Given the description of an element on the screen output the (x, y) to click on. 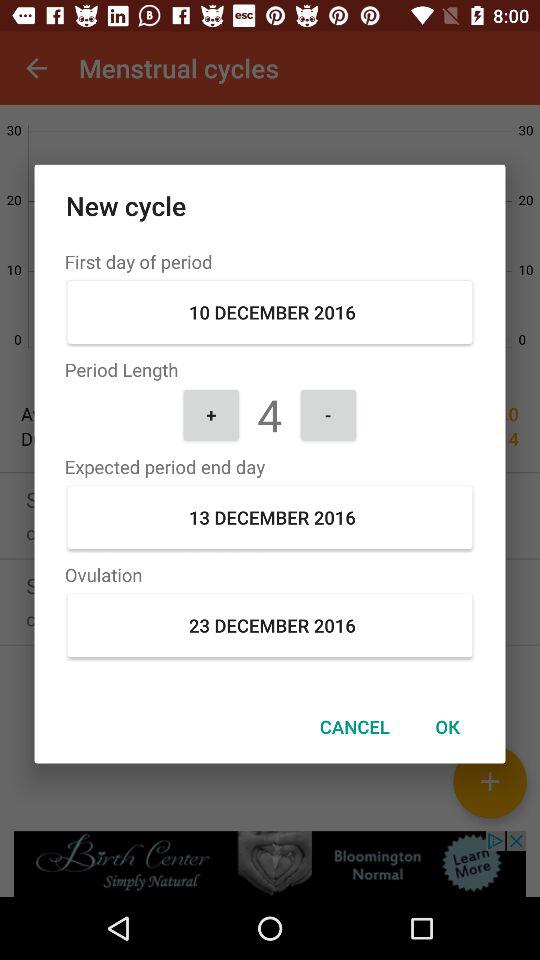
click icon below  23 december 2016 icon (354, 726)
